Given the description of an element on the screen output the (x, y) to click on. 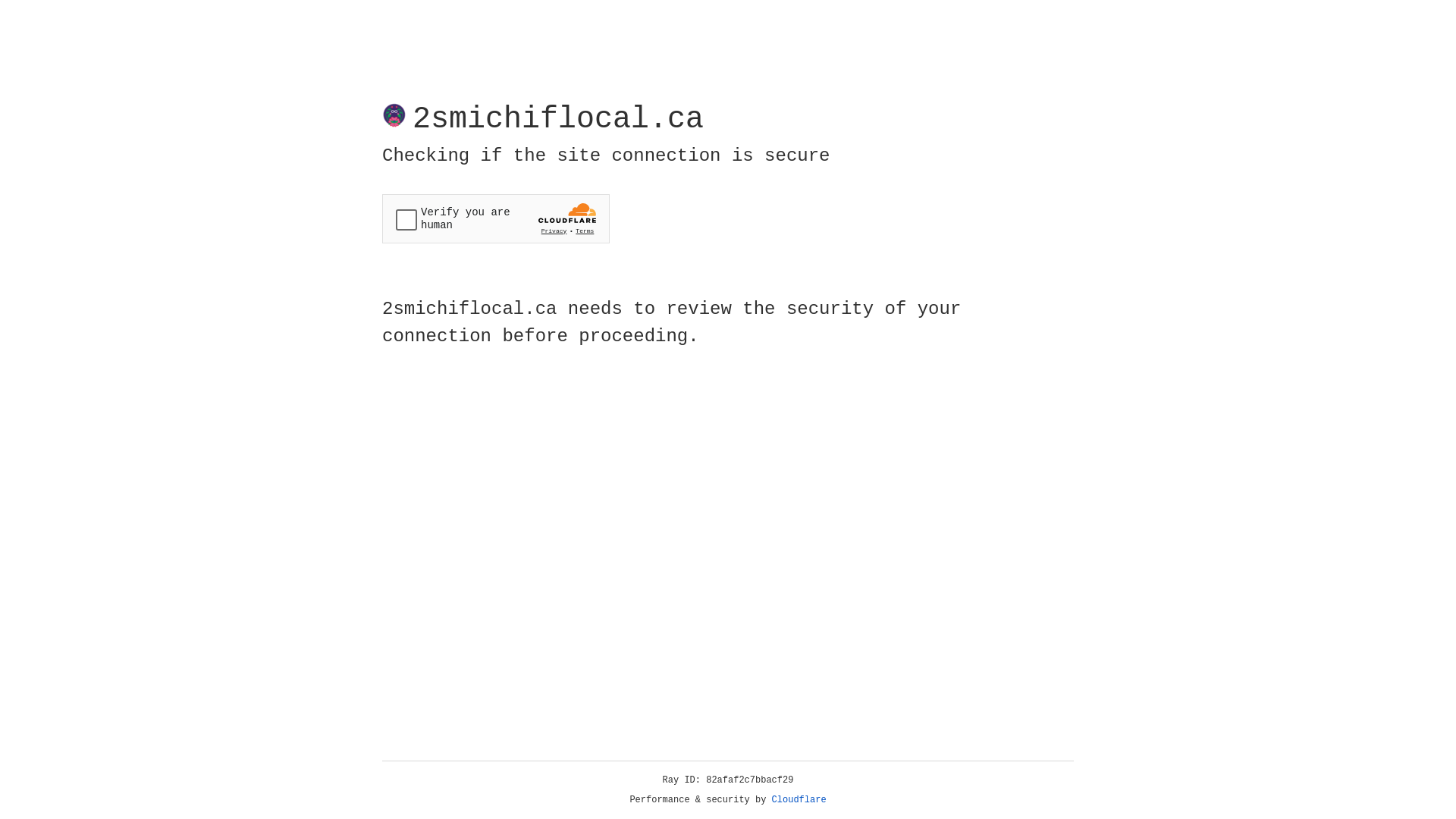
Widget containing a Cloudflare security challenge Element type: hover (495, 218)
Cloudflare Element type: text (798, 799)
